Given the description of an element on the screen output the (x, y) to click on. 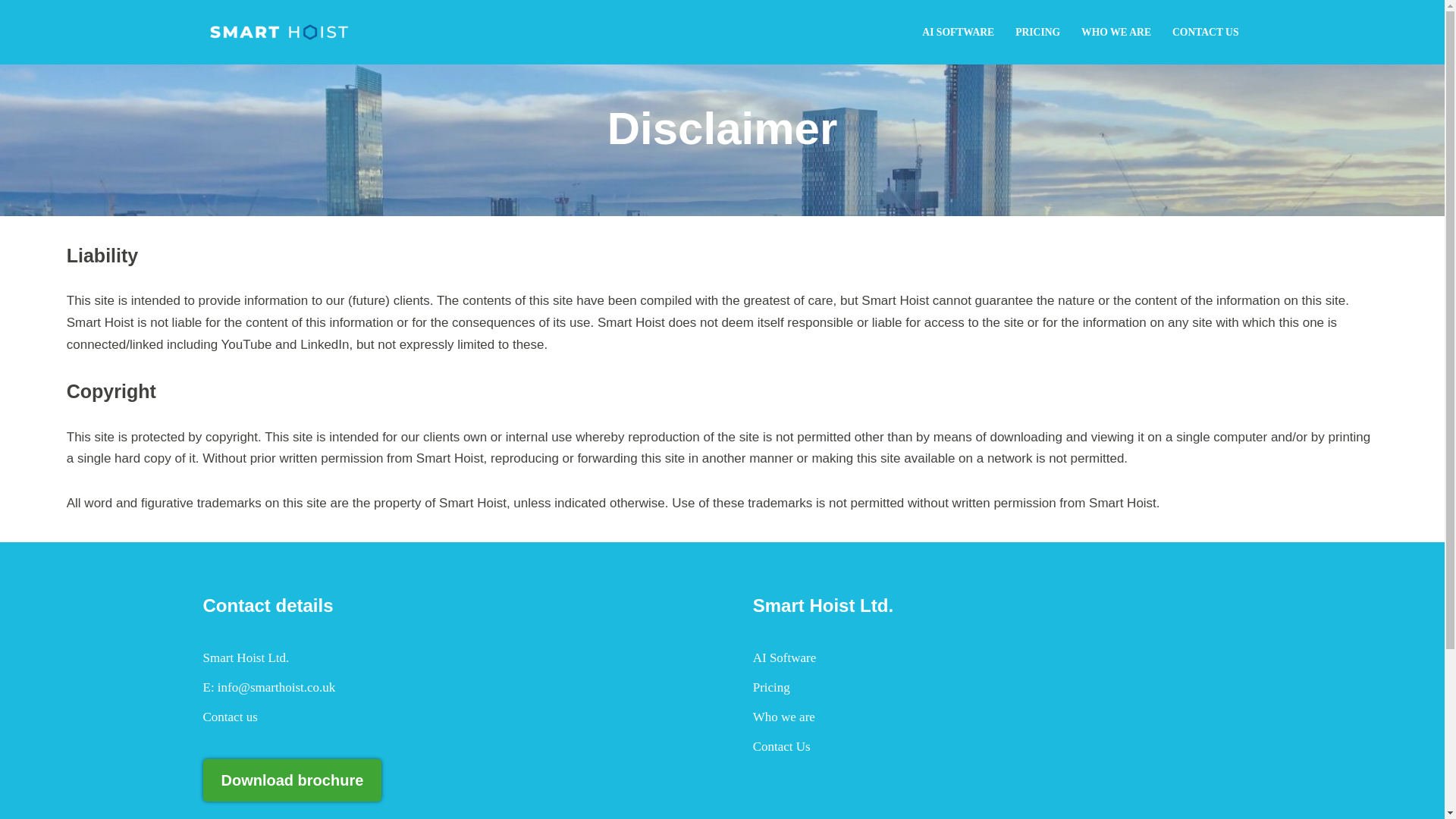
Pricing (771, 687)
AI Software (784, 657)
Skip to content (11, 31)
Contact us (230, 716)
WHO WE ARE (1116, 31)
Contact Us (781, 746)
Who we are (783, 716)
Download brochure (292, 780)
PRICING (1036, 31)
AI SOFTWARE (957, 31)
